Given the description of an element on the screen output the (x, y) to click on. 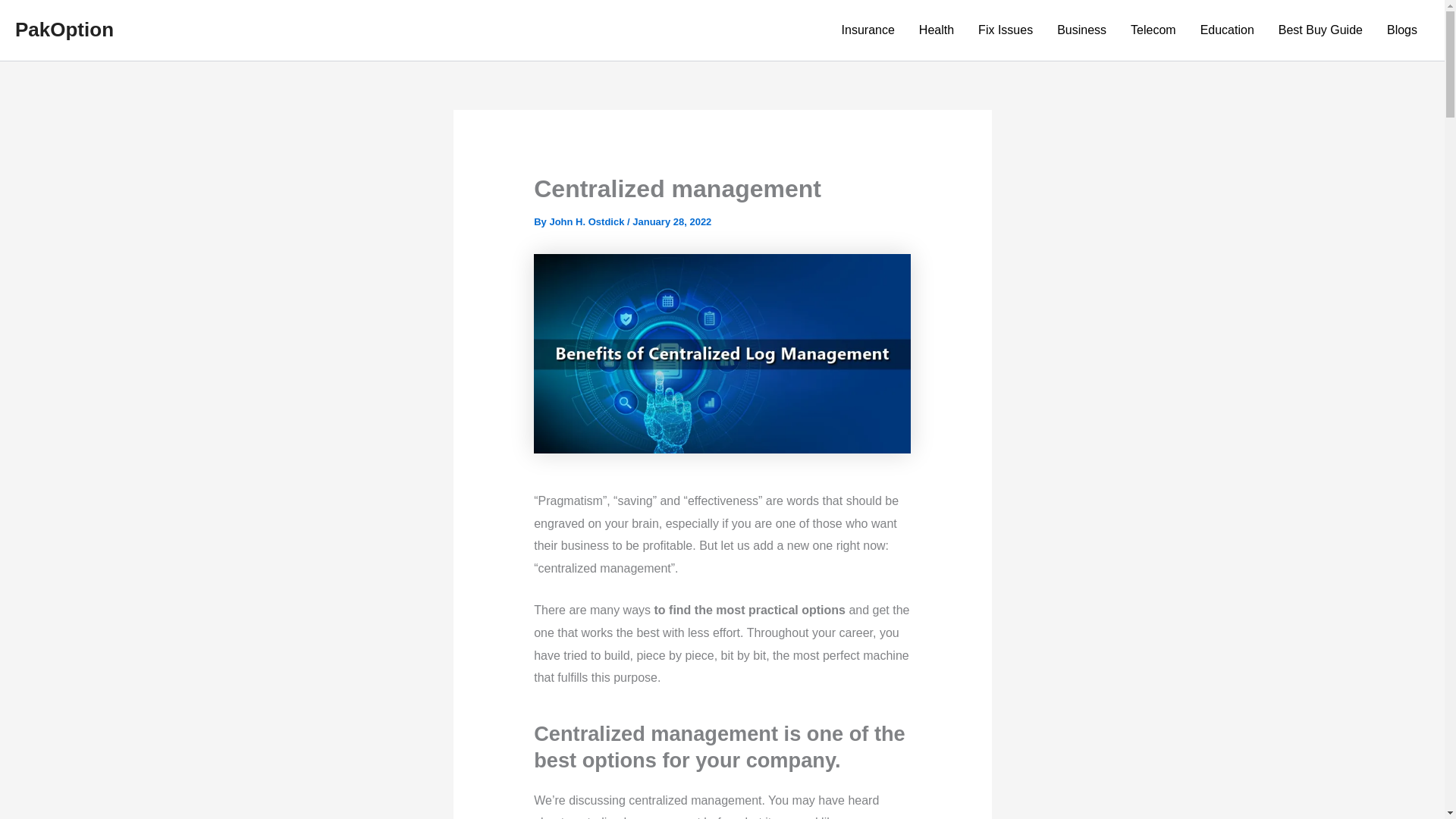
Business (1081, 30)
Education (1227, 30)
Telecom (1153, 30)
Fix Issues (1005, 30)
Best Buy Guide (1320, 30)
Insurance (868, 30)
John H. Ostdick (587, 221)
View all posts by John H. Ostdick (587, 221)
Health (936, 30)
Blogs (1401, 30)
